Given the description of an element on the screen output the (x, y) to click on. 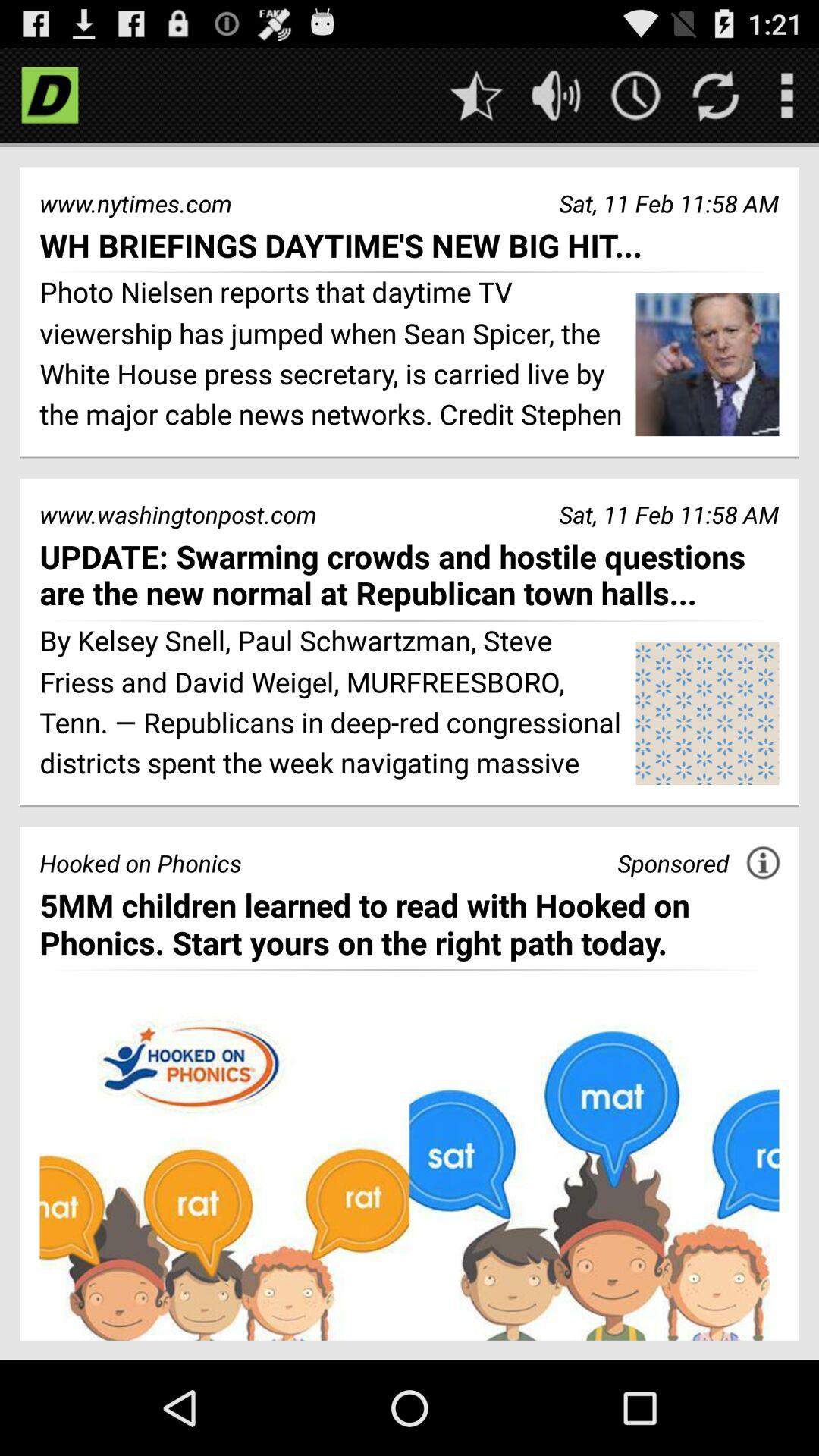
opens sponsors advertisement (409, 1175)
